Given the description of an element on the screen output the (x, y) to click on. 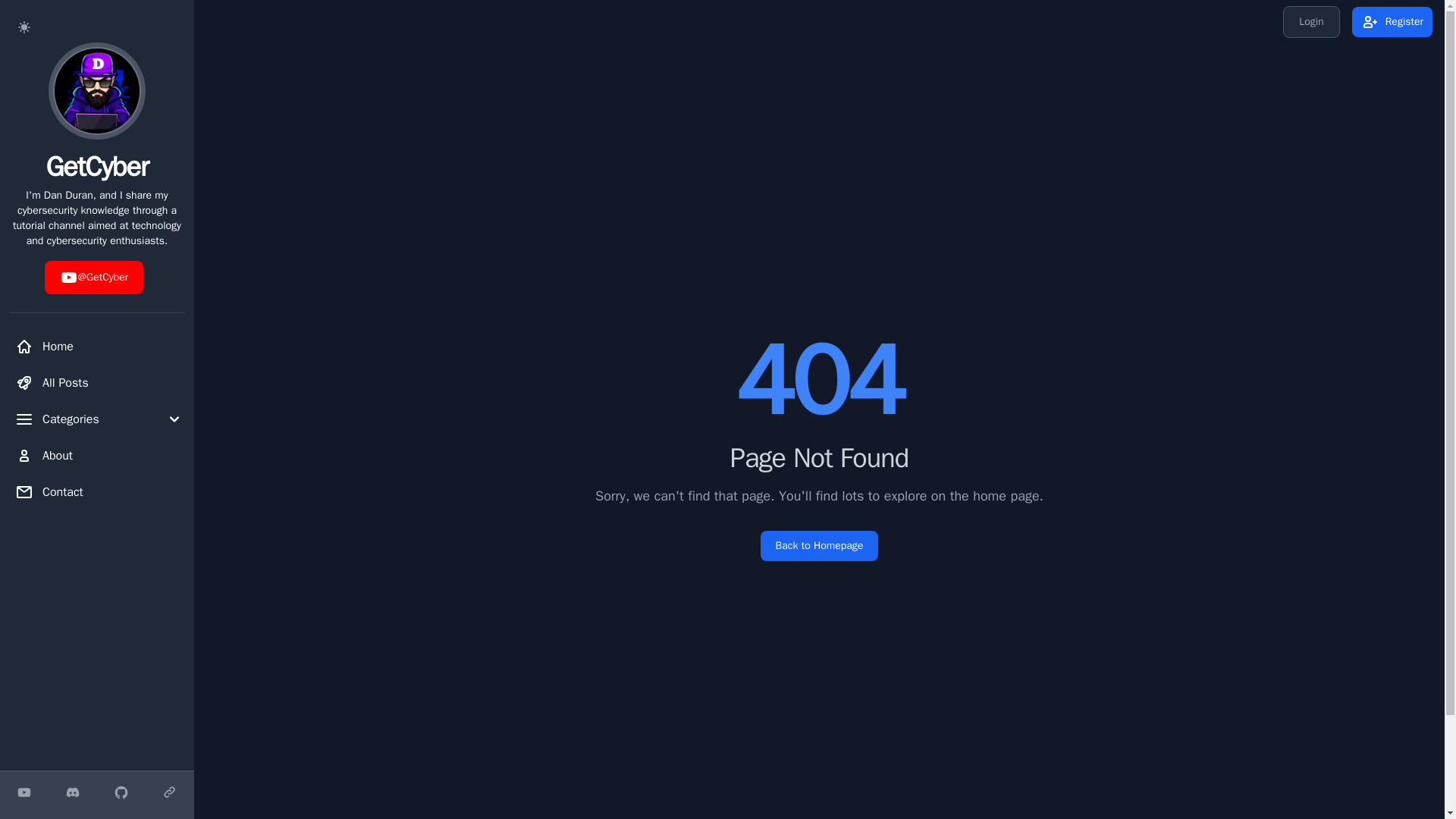
Categories (96, 419)
All Posts (96, 382)
Back to Homepage (819, 545)
Home (96, 346)
Register (1392, 21)
Login (1310, 21)
About (96, 455)
Contact (96, 491)
